Given the description of an element on the screen output the (x, y) to click on. 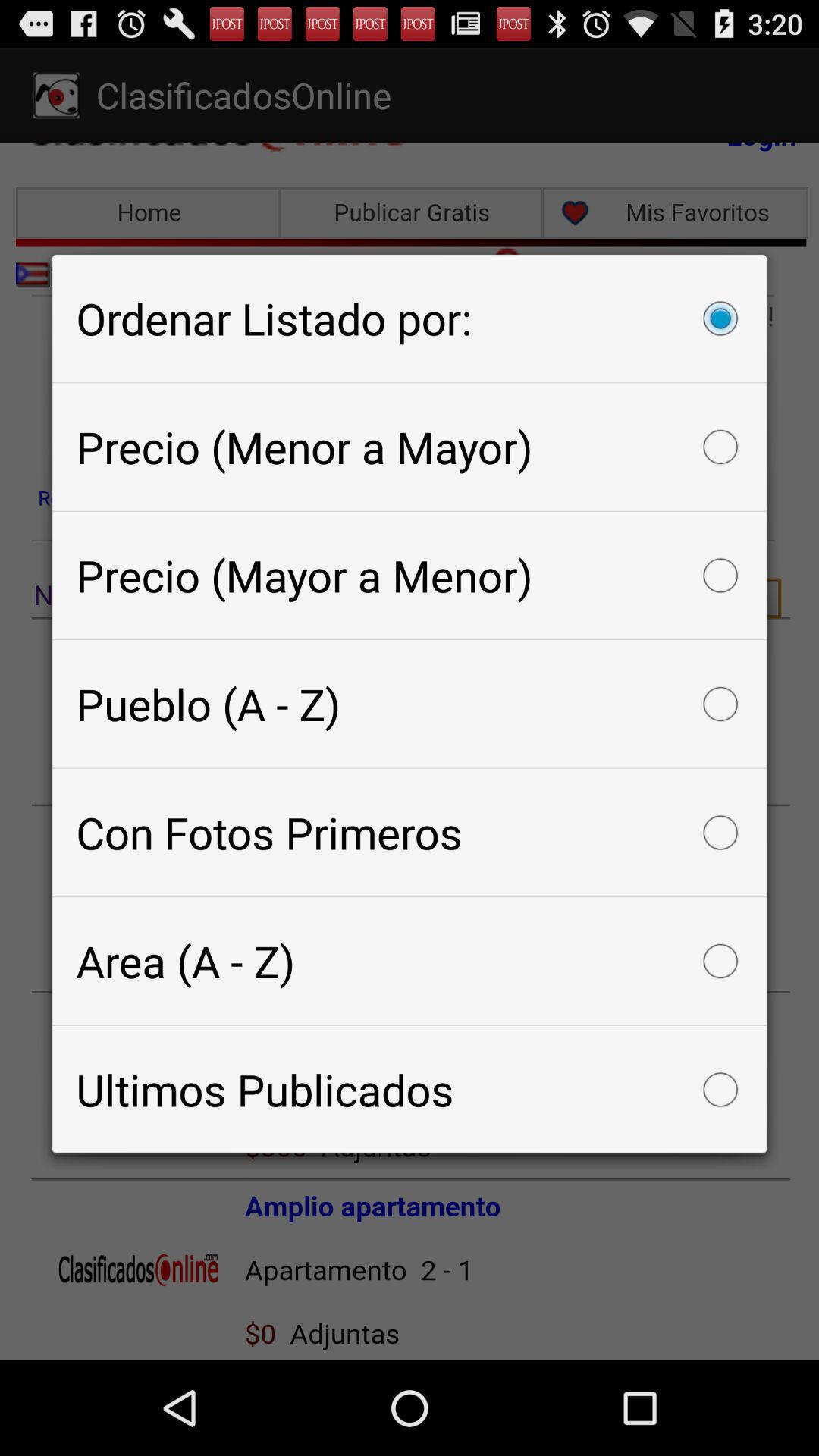
turn on ordenar listado por: checkbox (409, 318)
